Given the description of an element on the screen output the (x, y) to click on. 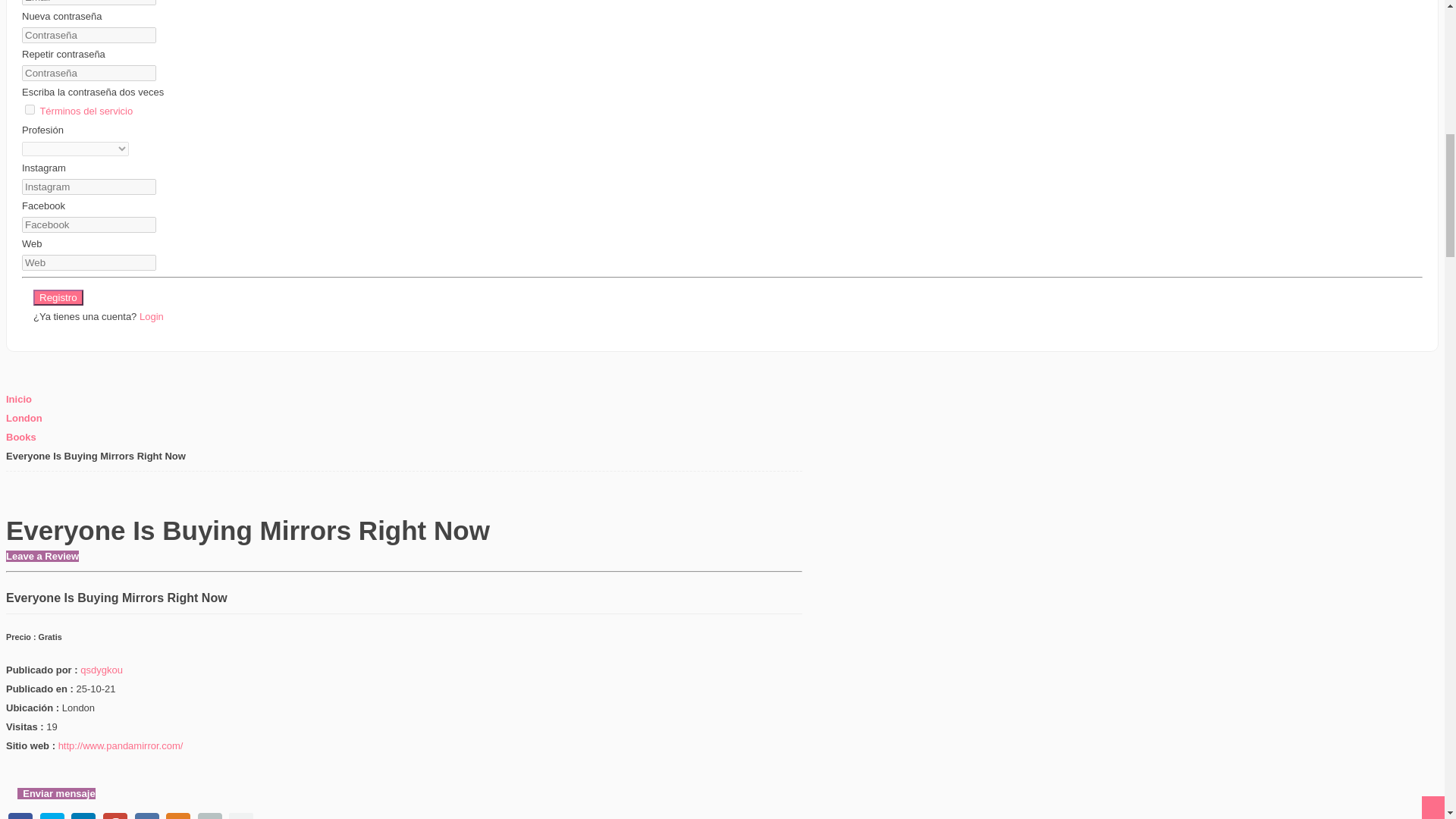
Tu web personal (88, 262)
Books (20, 437)
London (23, 418)
qsdygkou (101, 669)
Login (151, 316)
  Enviar mensaje (56, 793)
London (23, 418)
Cuenta de Facebook (88, 224)
Inicio (18, 398)
Inicio (18, 398)
Leave a Review (41, 555)
Books (20, 437)
Registro (57, 297)
on (29, 109)
Cuenta de instagram (88, 186)
